Given the description of an element on the screen output the (x, y) to click on. 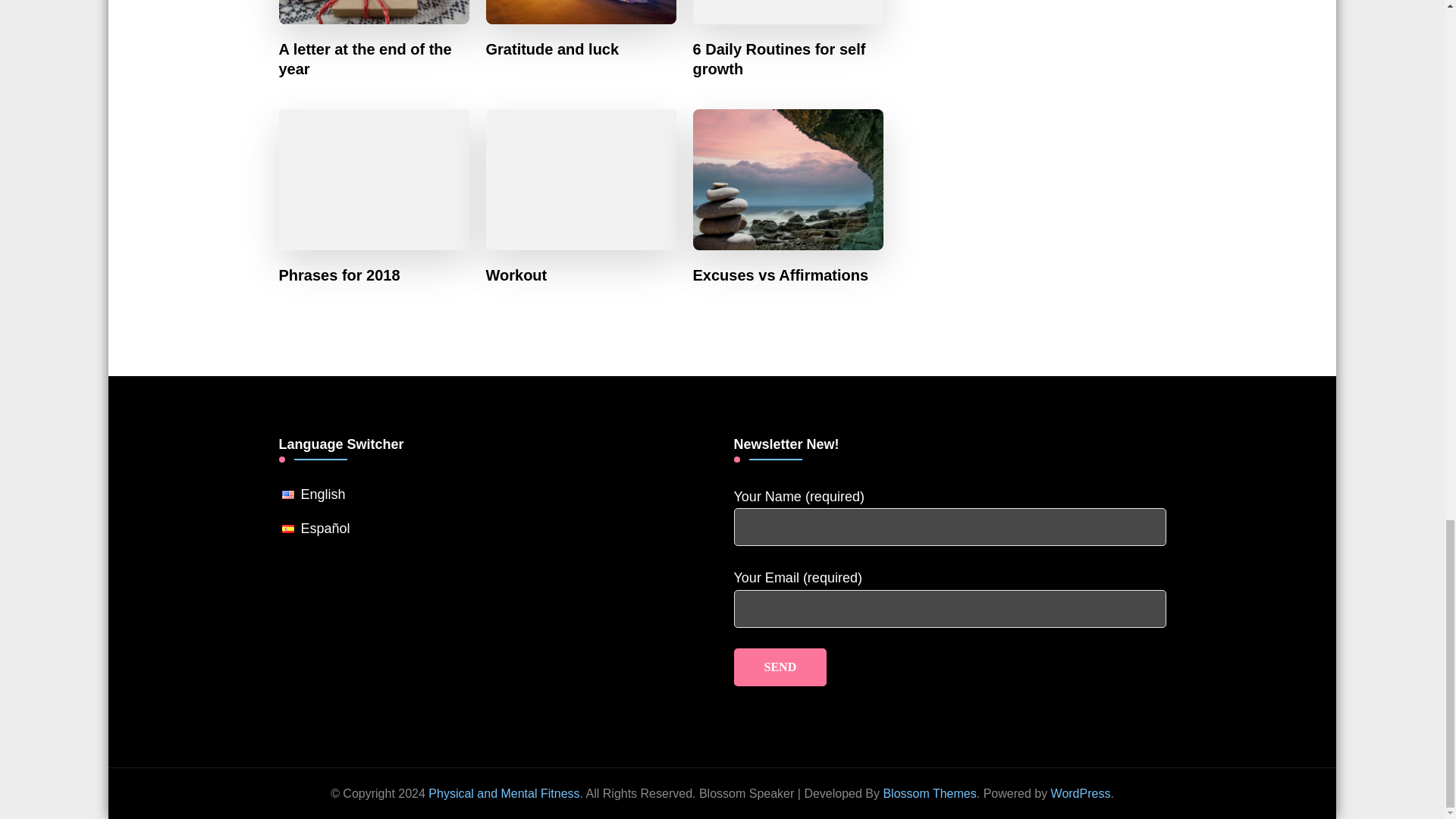
Blossom Themes (928, 793)
Send (780, 667)
Workout (516, 275)
Physical and Mental Fitness (503, 793)
Gratitude and luck (553, 48)
Send (780, 667)
WordPress (1080, 793)
English (323, 494)
6 Daily Routines for self growth (788, 58)
English (323, 494)
Phrases for 2018 (339, 275)
Excuses vs Affirmations (781, 275)
A letter at the end of the year (374, 58)
